Given the description of an element on the screen output the (x, y) to click on. 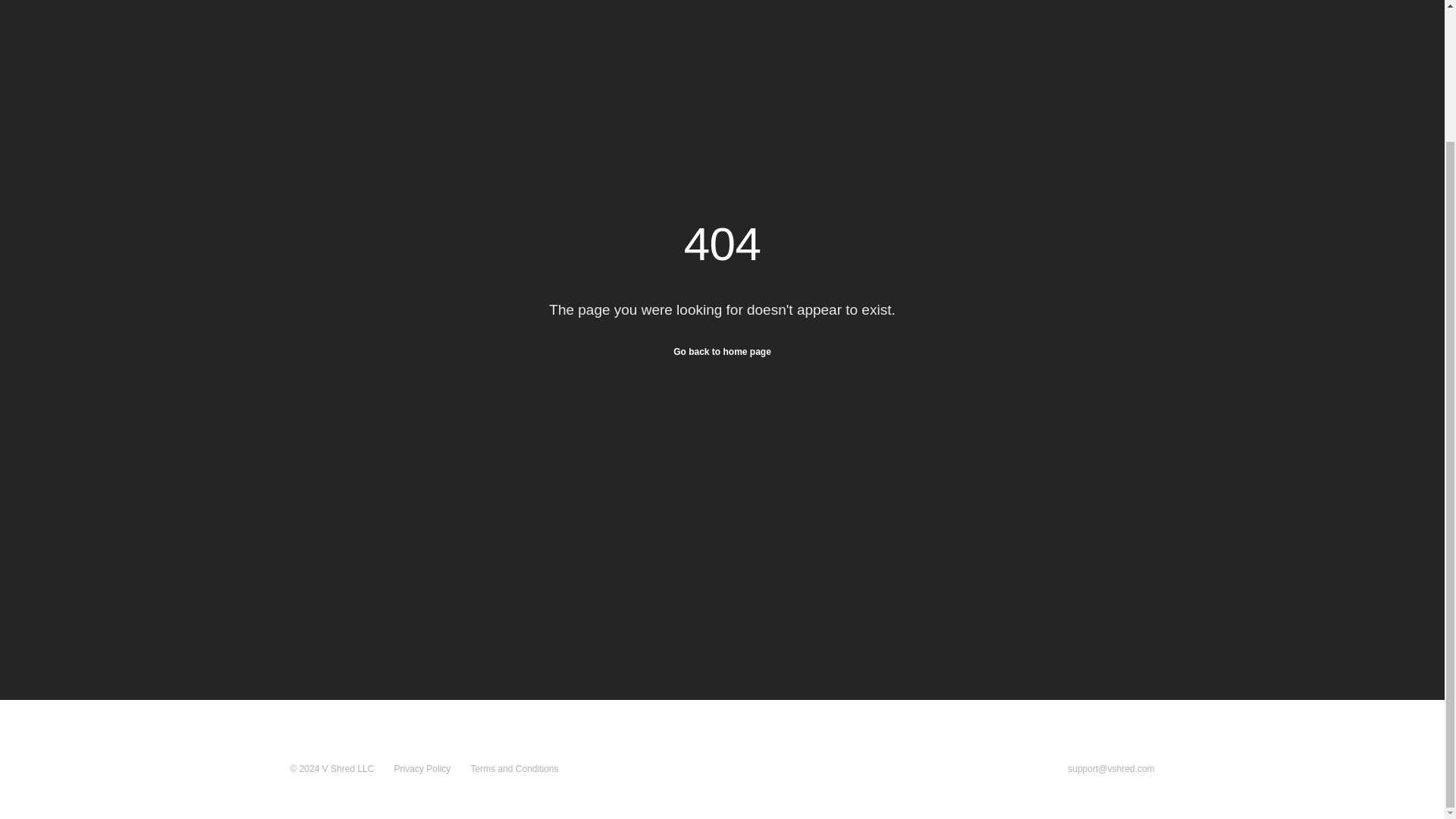
Terms and Conditions (513, 768)
Go back to home page (721, 351)
Privacy Policy (422, 768)
